Given the description of an element on the screen output the (x, y) to click on. 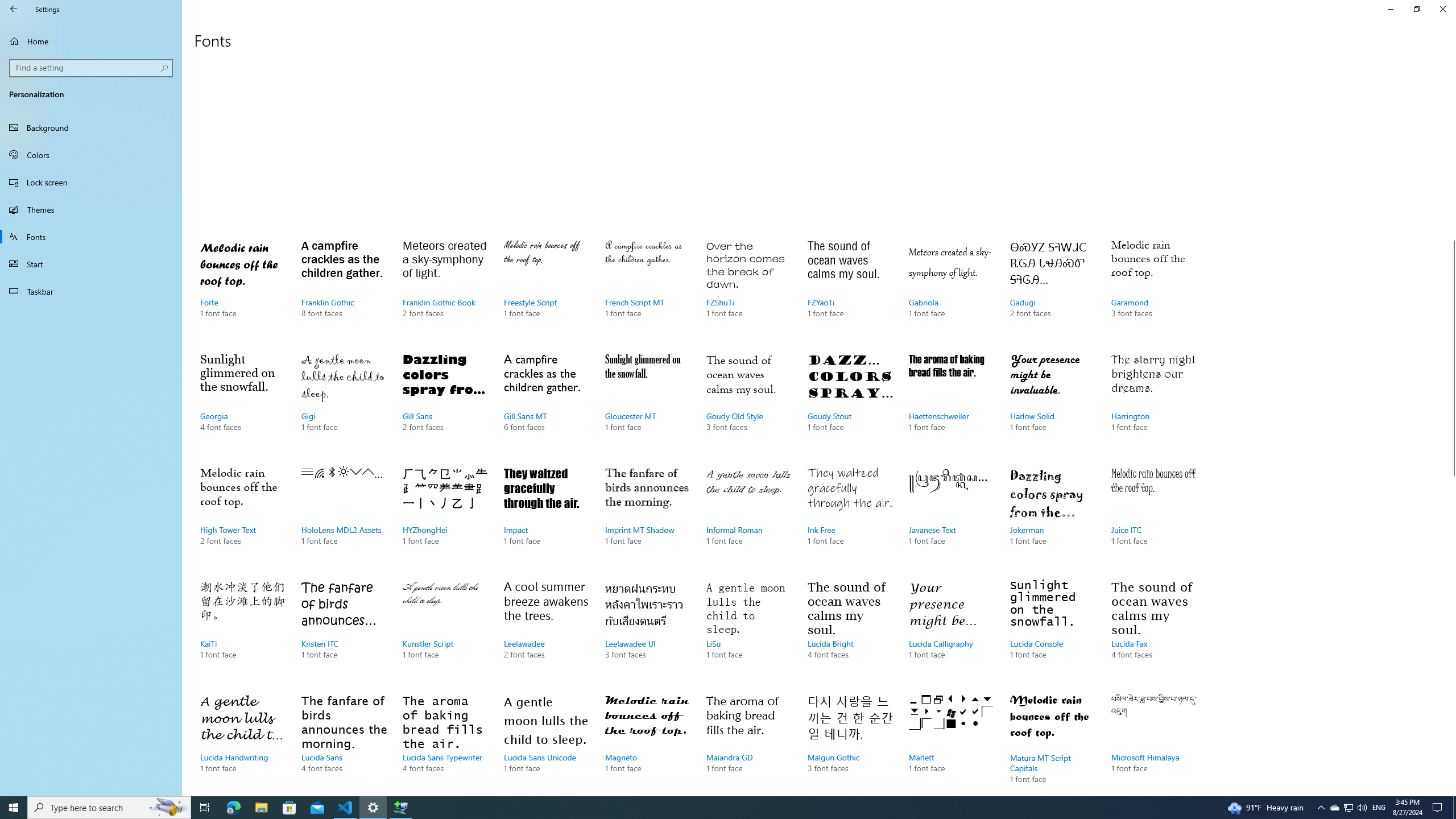
Malgun Gothic, 3 font faces (850, 741)
Juice ITC, 1 font face (1153, 517)
Action Center, No new notifications (1439, 807)
Ink Free, 1 font face (850, 517)
Search box, Find a setting (91, 67)
Settings - 1 running window (373, 807)
FZShuTi, 1 font face (748, 290)
Lock screen (91, 181)
Gabriola, 1 font face (951, 290)
Vertical Large Increase (1451, 631)
Lucida Sans Typewriter, 4 font faces (445, 741)
Gadugi, 2 font faces (1052, 290)
File Explorer (261, 807)
Jokerman, 1 font face (1052, 517)
Background (91, 126)
